Given the description of an element on the screen output the (x, y) to click on. 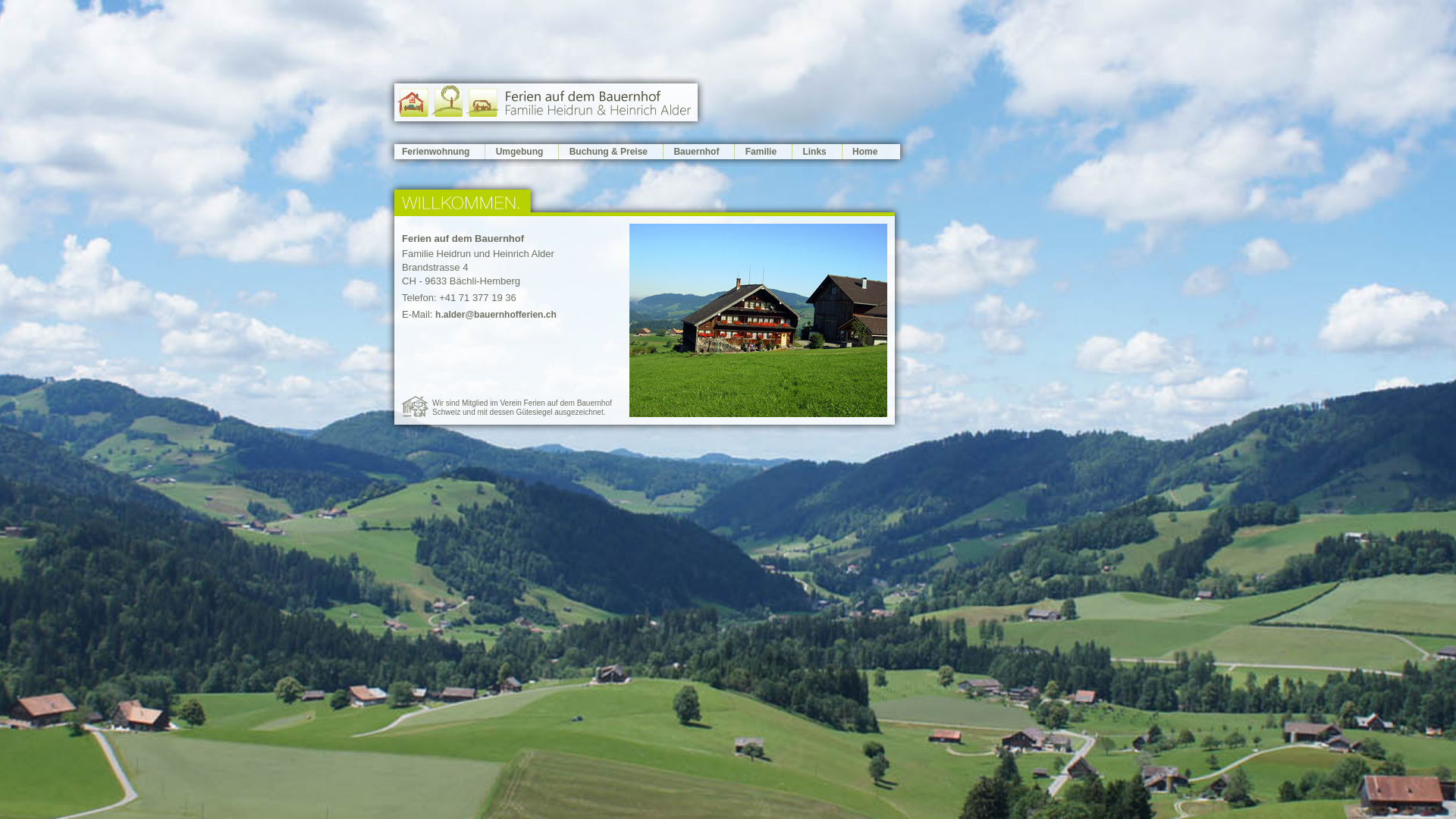
h.alder@bauernhofferien.ch Element type: text (495, 314)
    Umgebung       Element type: text (521, 151)
    Familie       Element type: text (762, 151)
    Home       Element type: text (867, 151)
    Bauernhof       Element type: text (698, 151)
Ferienwohnung       Element type: text (442, 151)
    Buchung & Preise       Element type: text (610, 151)
    Links       Element type: text (816, 151)
